Given the description of an element on the screen output the (x, y) to click on. 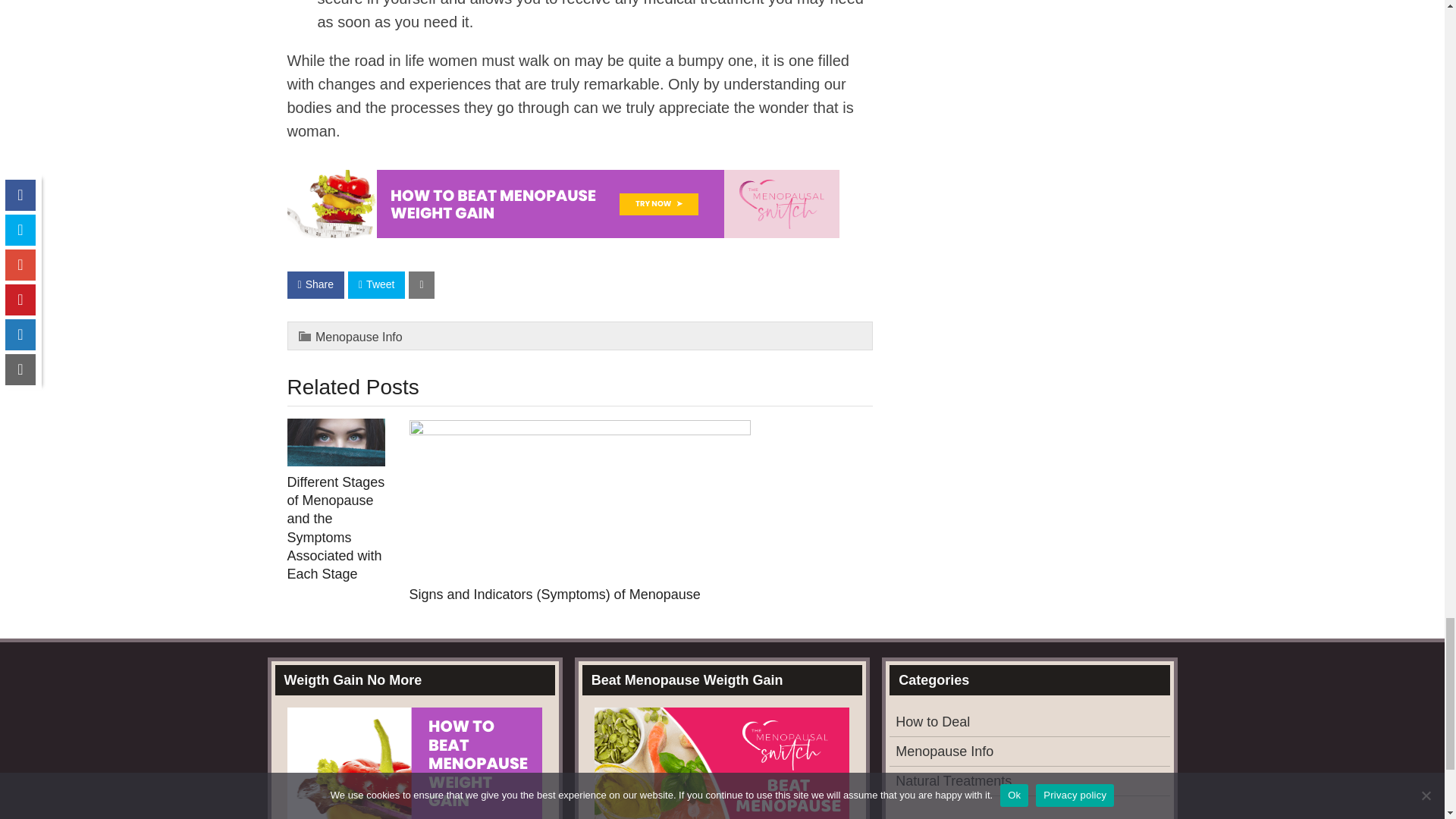
Share (314, 284)
Tweet on Twitter (375, 284)
Menopause Weigth Gain No More (562, 232)
Tweet (375, 284)
Menopause Weigth Gain No More (562, 203)
Share On Facebook (314, 284)
